Given the description of an element on the screen output the (x, y) to click on. 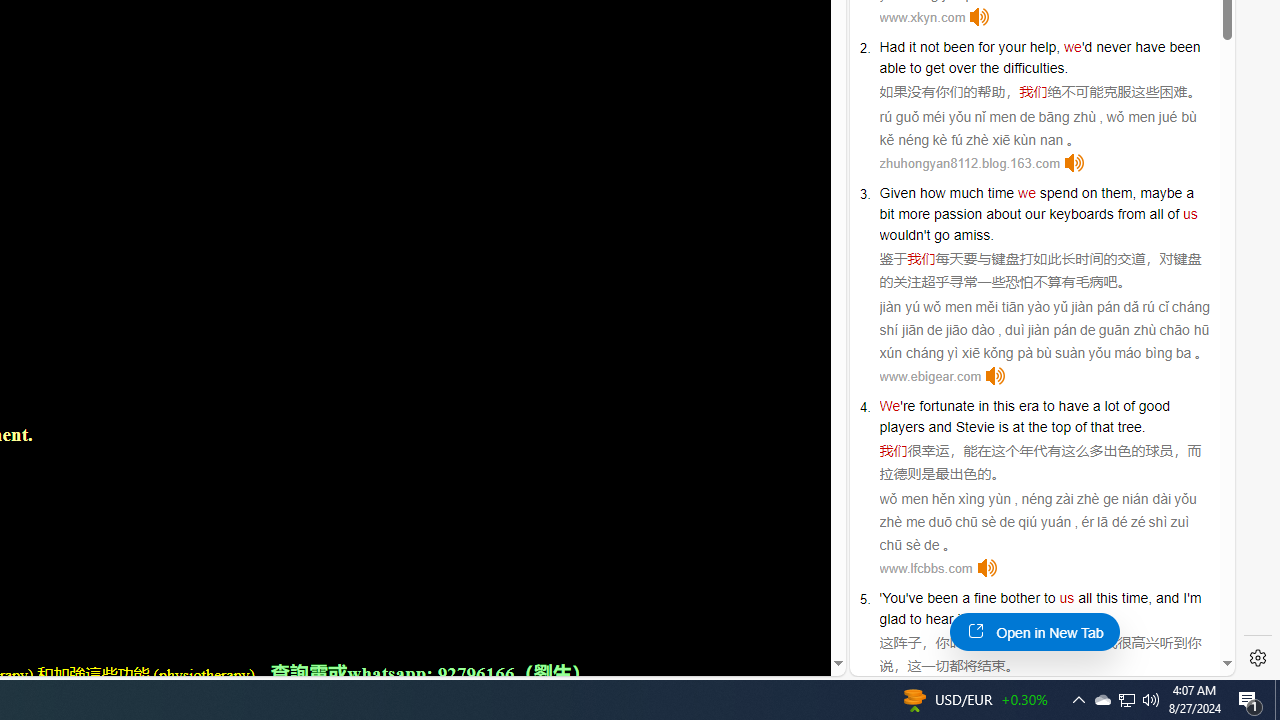
not (929, 46)
players (902, 426)
top (1060, 426)
, (1150, 597)
us (1066, 597)
hear (939, 619)
